Given the description of an element on the screen output the (x, y) to click on. 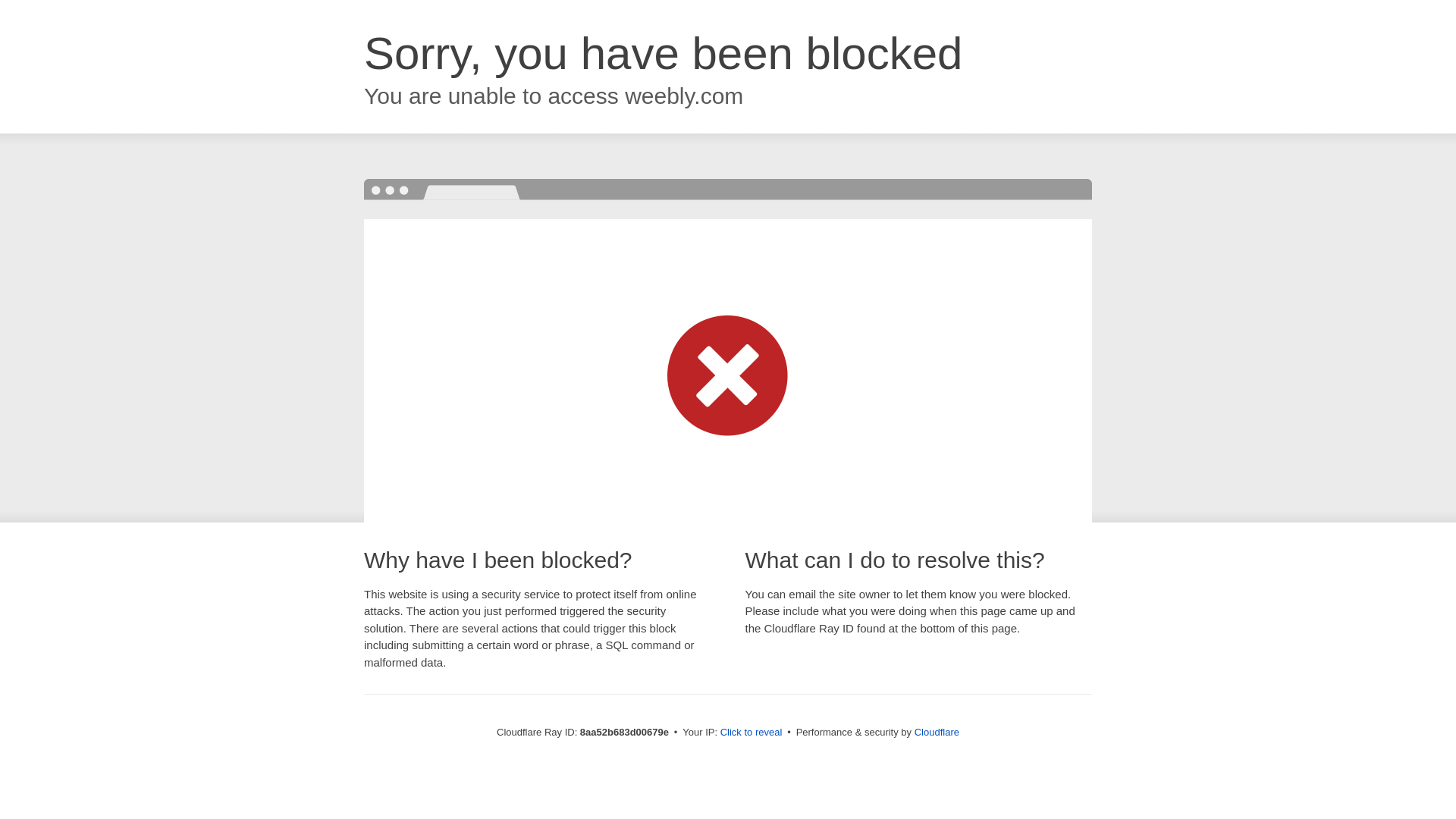
Click to reveal (751, 732)
Cloudflare (936, 731)
